Given the description of an element on the screen output the (x, y) to click on. 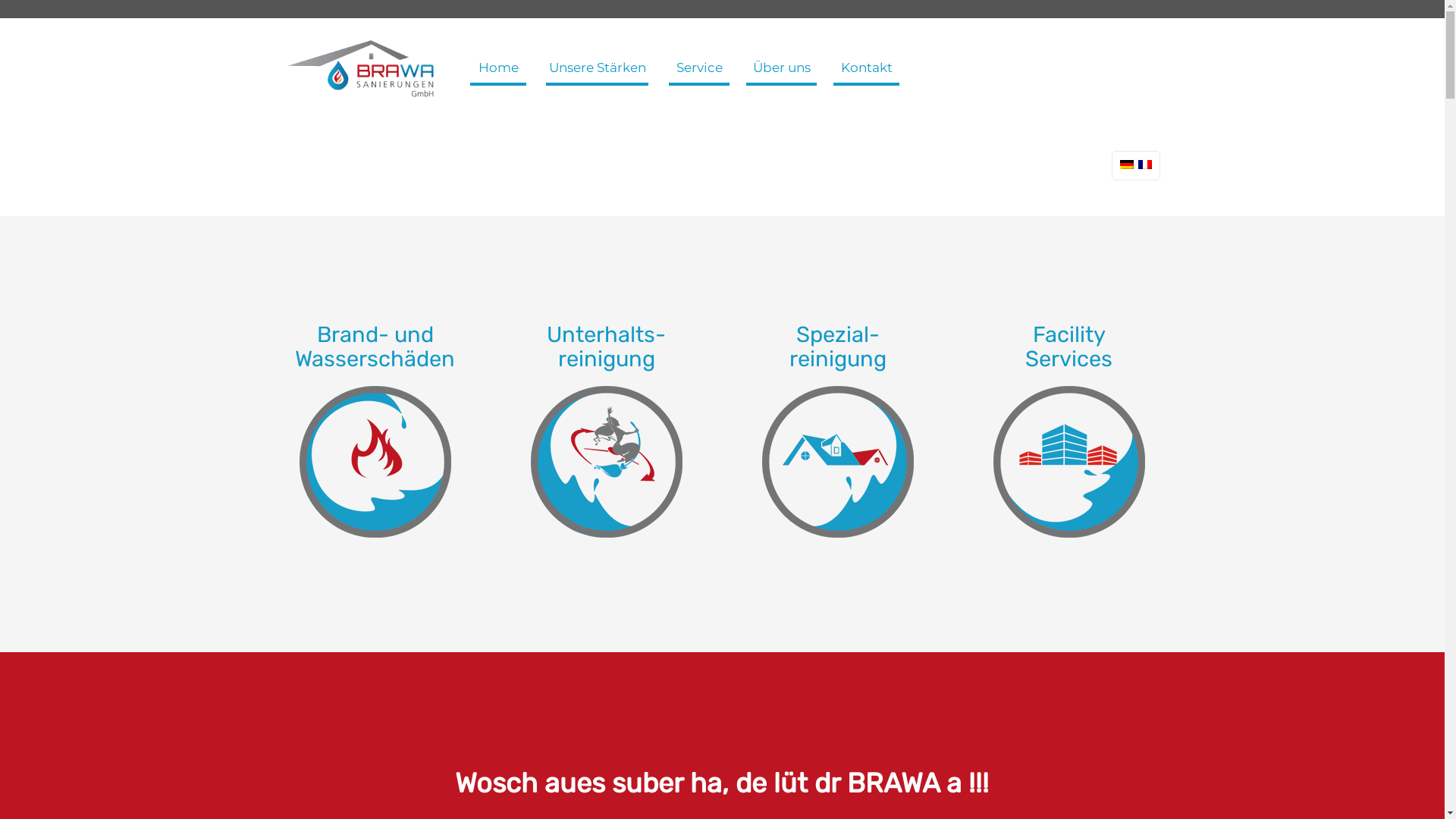
Brawa Sanierungen Element type: hover (362, 67)
Home Element type: text (498, 67)
Service Element type: text (699, 67)
Kontakt Element type: text (866, 67)
